Given the description of an element on the screen output the (x, y) to click on. 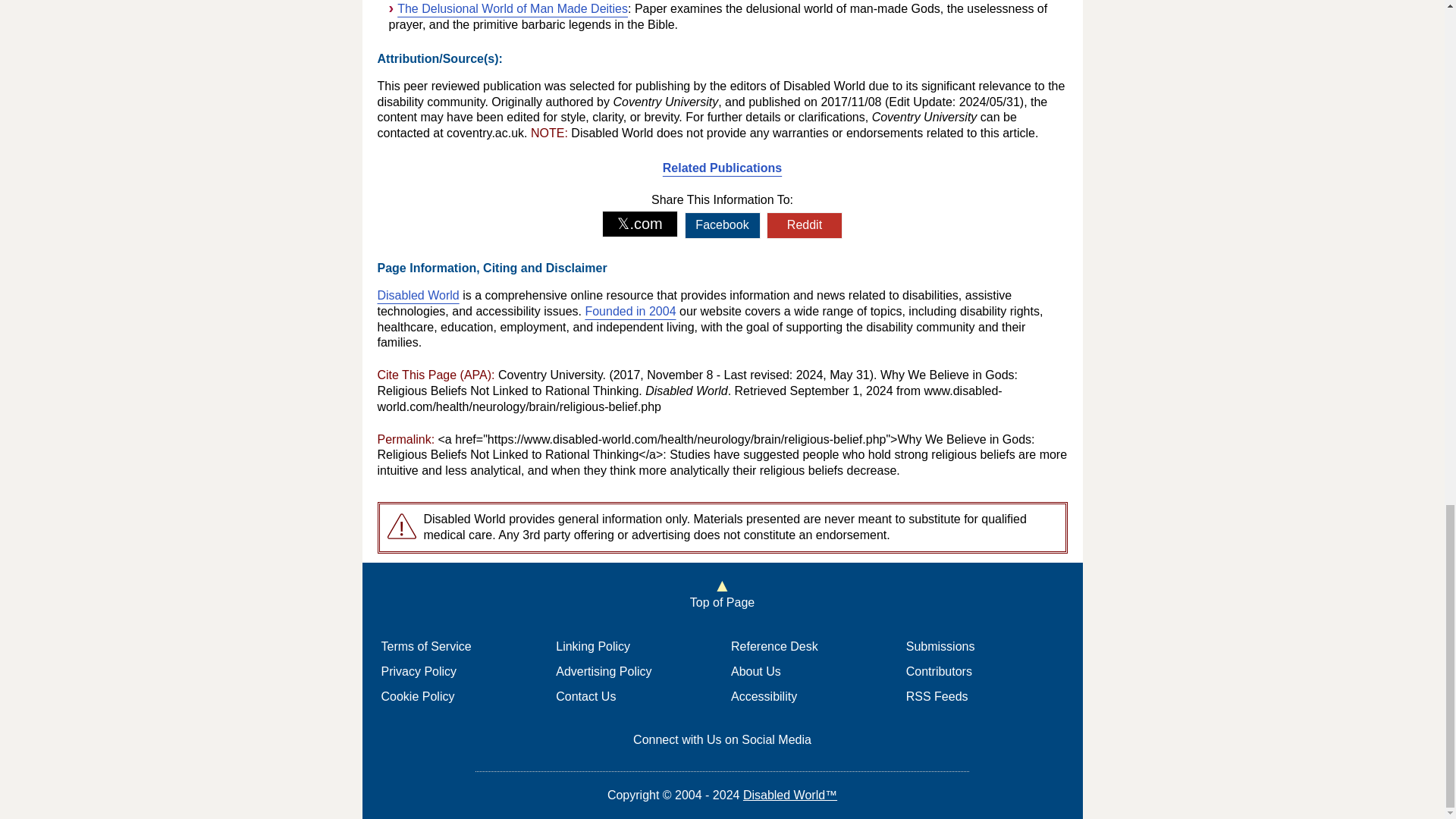
Privacy Policy (418, 671)
Share on X (640, 223)
Advertising Policy (603, 671)
The Delusional World of Man Made Deities (512, 8)
Disabled World (418, 295)
Contact Us (585, 696)
Terms of Service (425, 645)
Linking Policy (593, 645)
Cookie Policy (417, 696)
Founded in 2004 (630, 310)
